Given the description of an element on the screen output the (x, y) to click on. 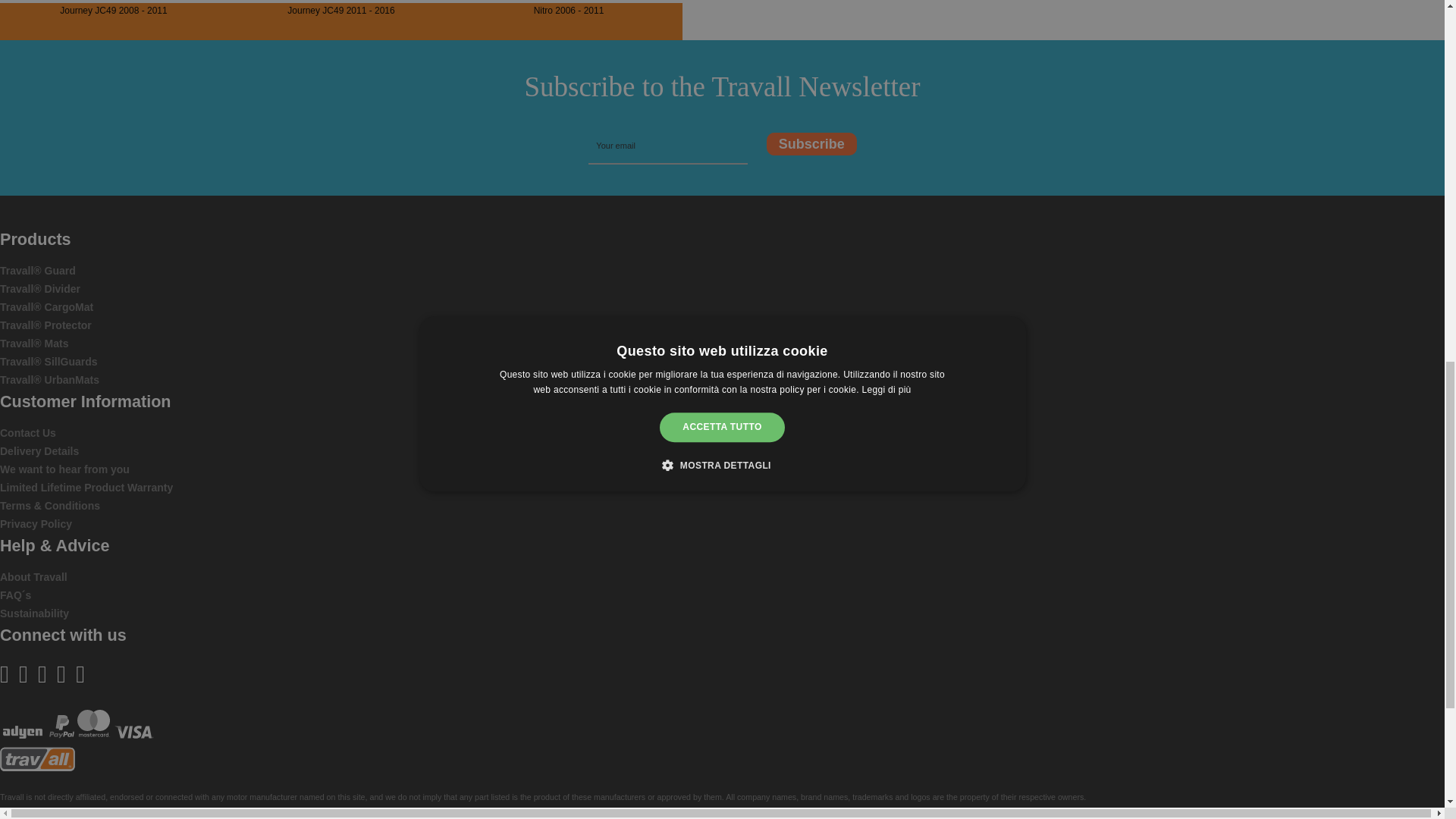
 Journey JC49 2011 - 2016  (340, 1)
 Nitro 2006 - 2011  (568, 1)
 Journey JC49 2008 - 2011  (113, 1)
